Given the description of an element on the screen output the (x, y) to click on. 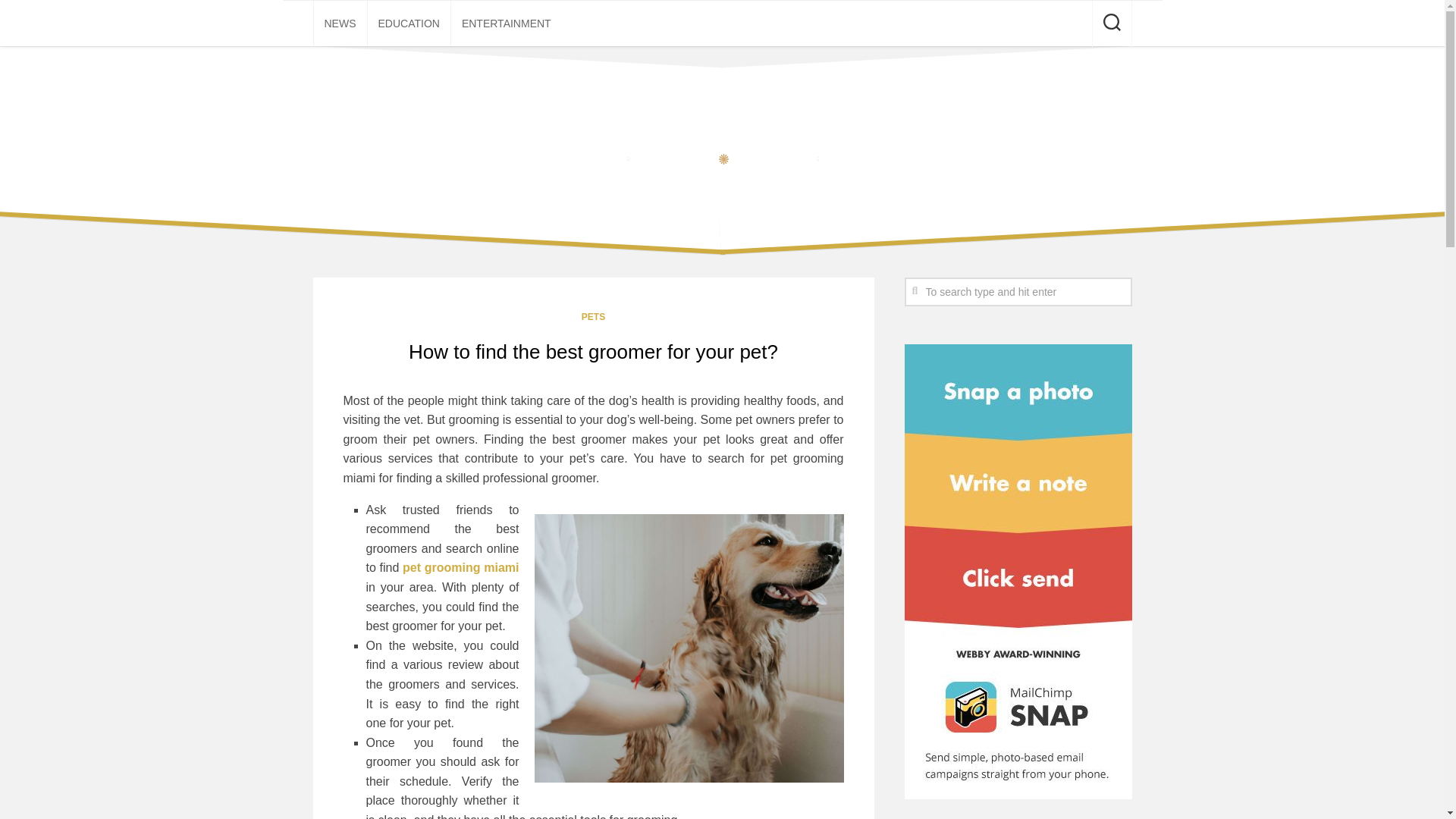
EDUCATION (408, 23)
ENTERTAINMENT (506, 23)
PETS (592, 317)
NEWS (340, 23)
To search type and hit enter (1017, 291)
pet grooming miami (460, 567)
To search type and hit enter (1017, 291)
How to find the best groomer for your pet? (593, 351)
